Given the description of an element on the screen output the (x, y) to click on. 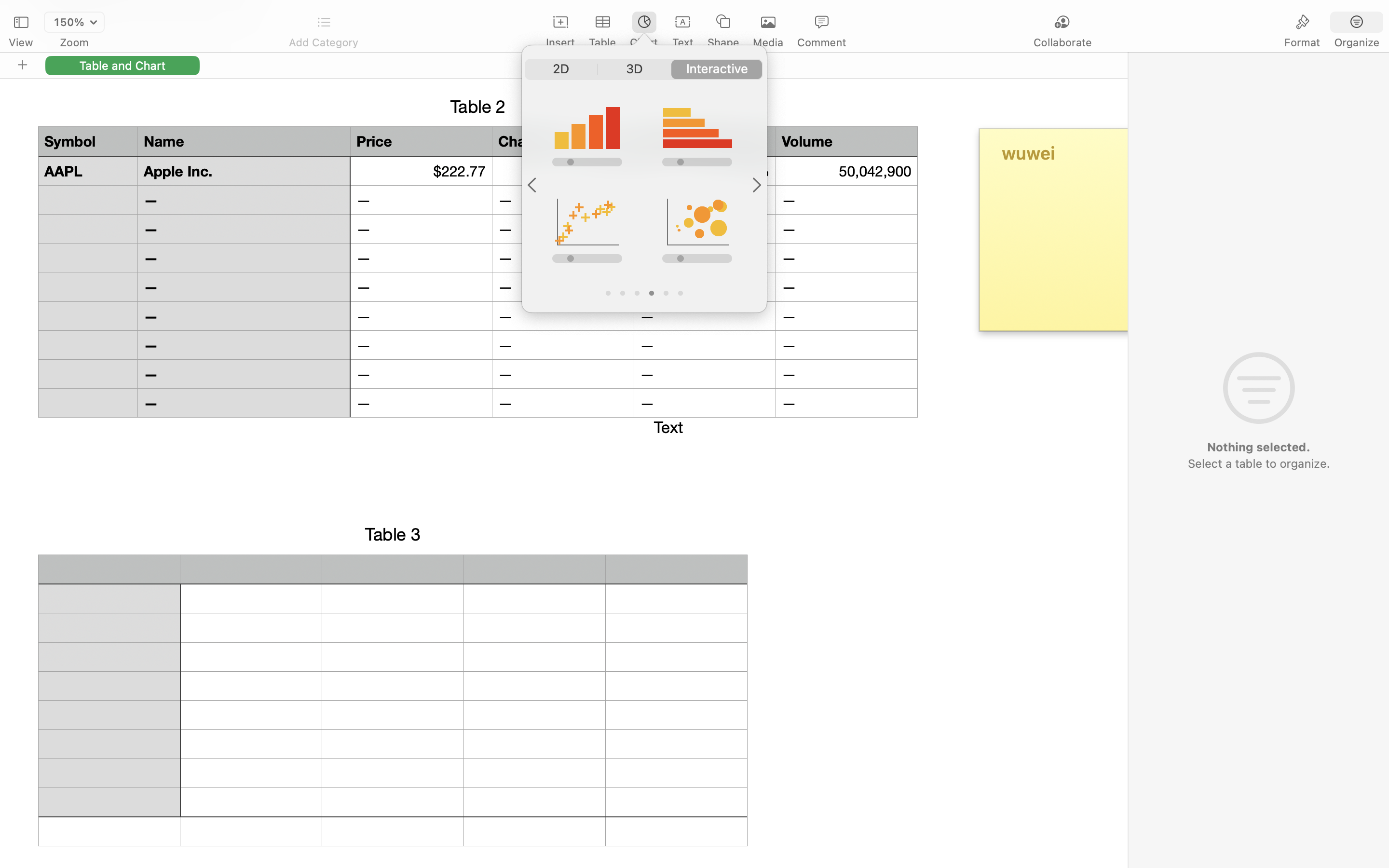
Organize Element type: AXStaticText (1356, 42)
Untitled Element type: AXStaticText (667, 12)
Nothing selected. Element type: AXStaticText (1257, 446)
<AXUIElement 0x296280920> {pid=1420} Element type: AXGroup (1329, 22)
